Given the description of an element on the screen output the (x, y) to click on. 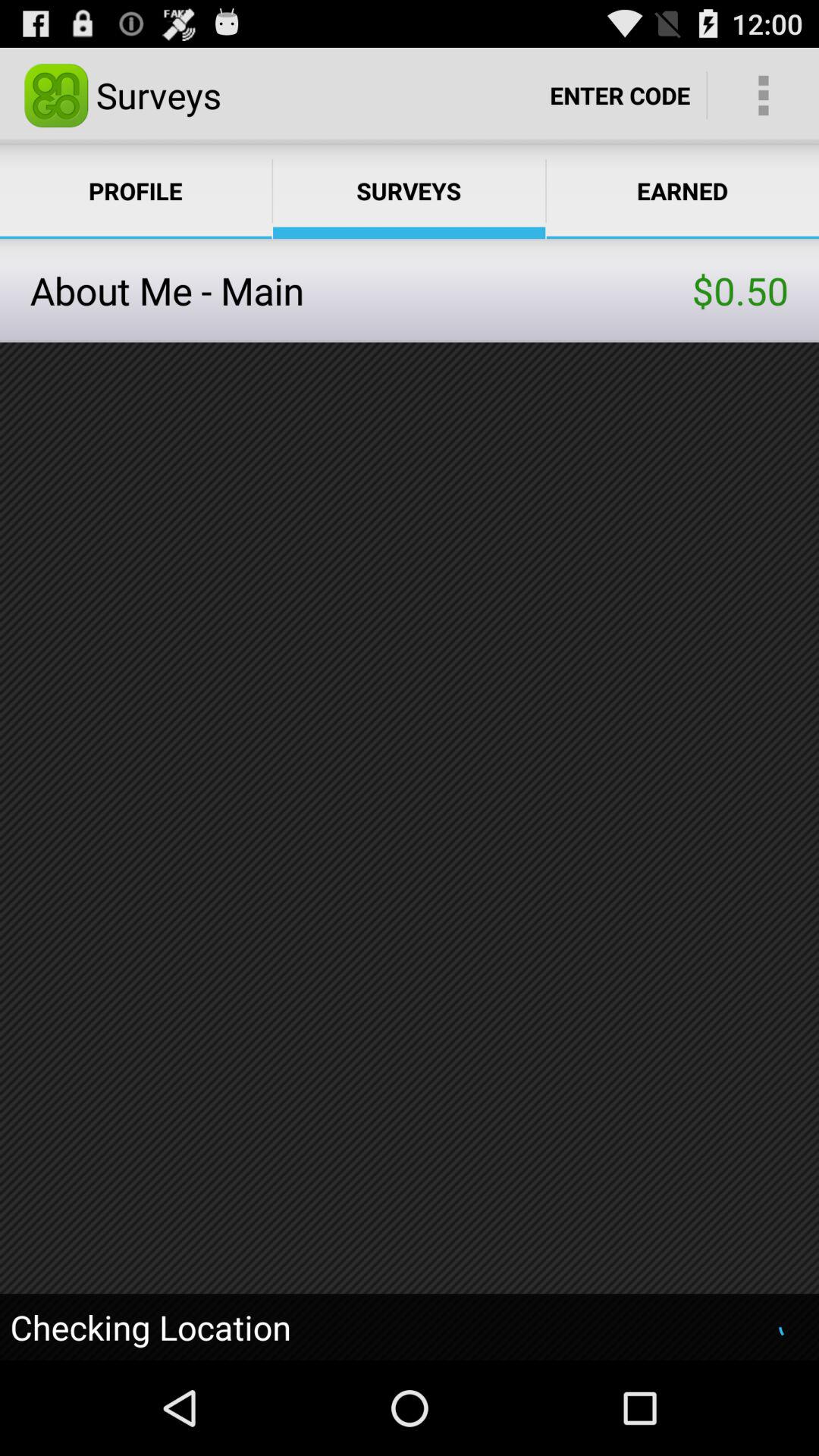
open icon to the right of about me - main icon (740, 290)
